Given the description of an element on the screen output the (x, y) to click on. 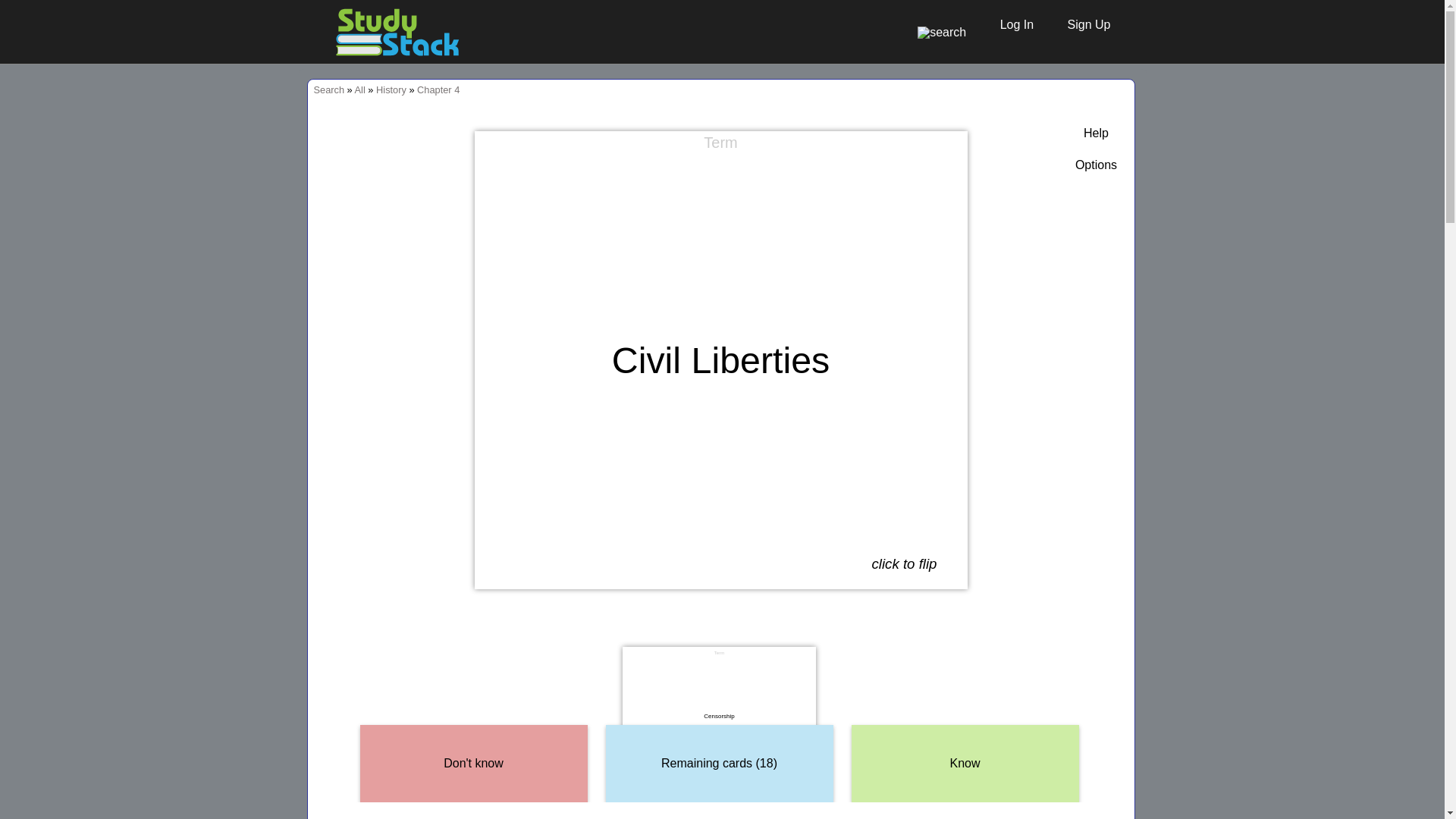
Chapter 4 (438, 89)
Show options (1096, 165)
History (390, 89)
All (360, 89)
Search (329, 89)
Show helpful tips (1096, 133)
Click here or press left arrow if you do not know the card (472, 763)
Click here or press right arrow if you know the card (964, 763)
Log In (1009, 24)
speak card (949, 149)
